Given the description of an element on the screen output the (x, y) to click on. 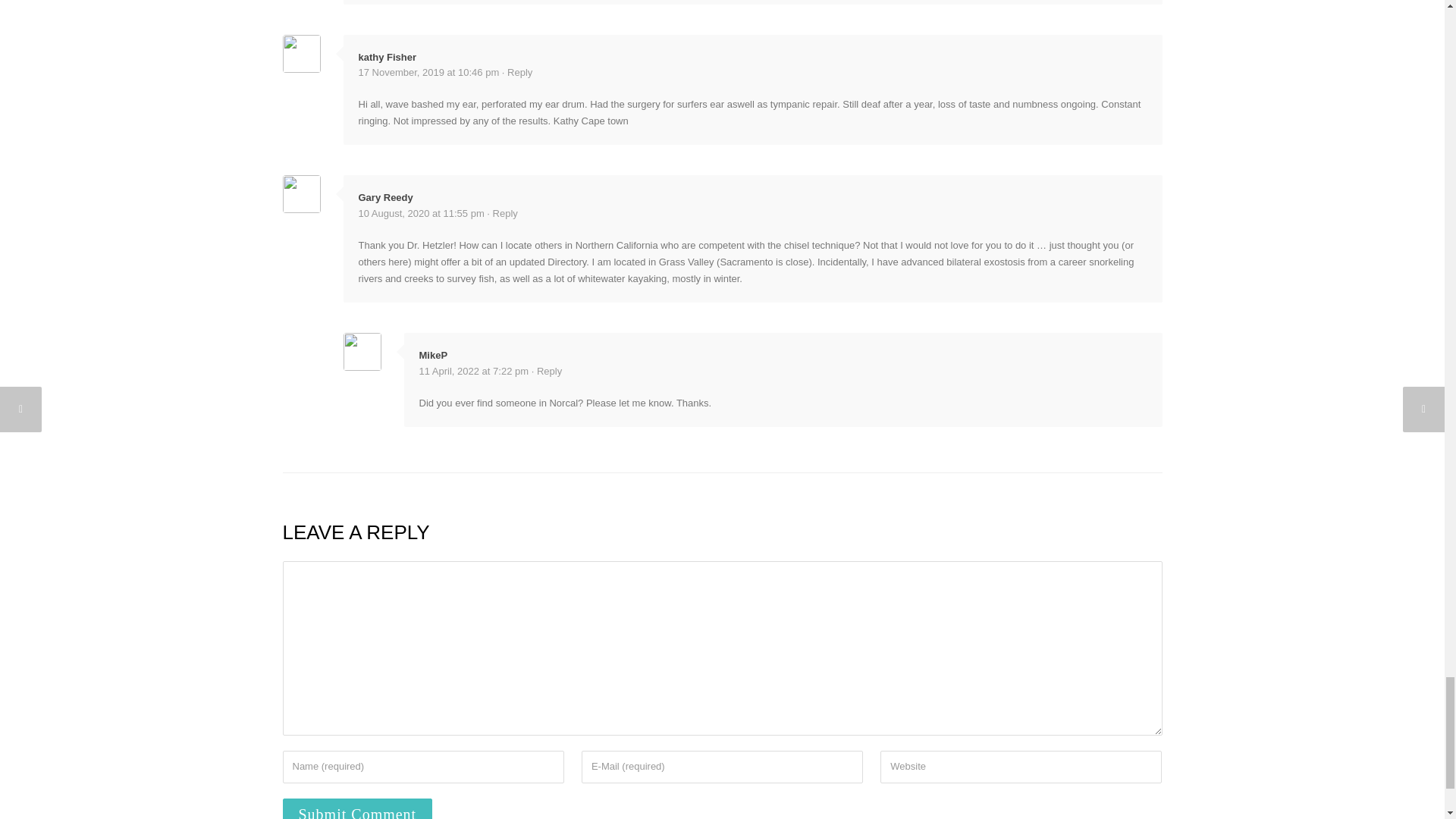
Website (1020, 766)
Submit Comment (357, 808)
Reply (519, 71)
Reply (549, 370)
Gary Reedy (385, 197)
Reply (505, 213)
